Given the description of an element on the screen output the (x, y) to click on. 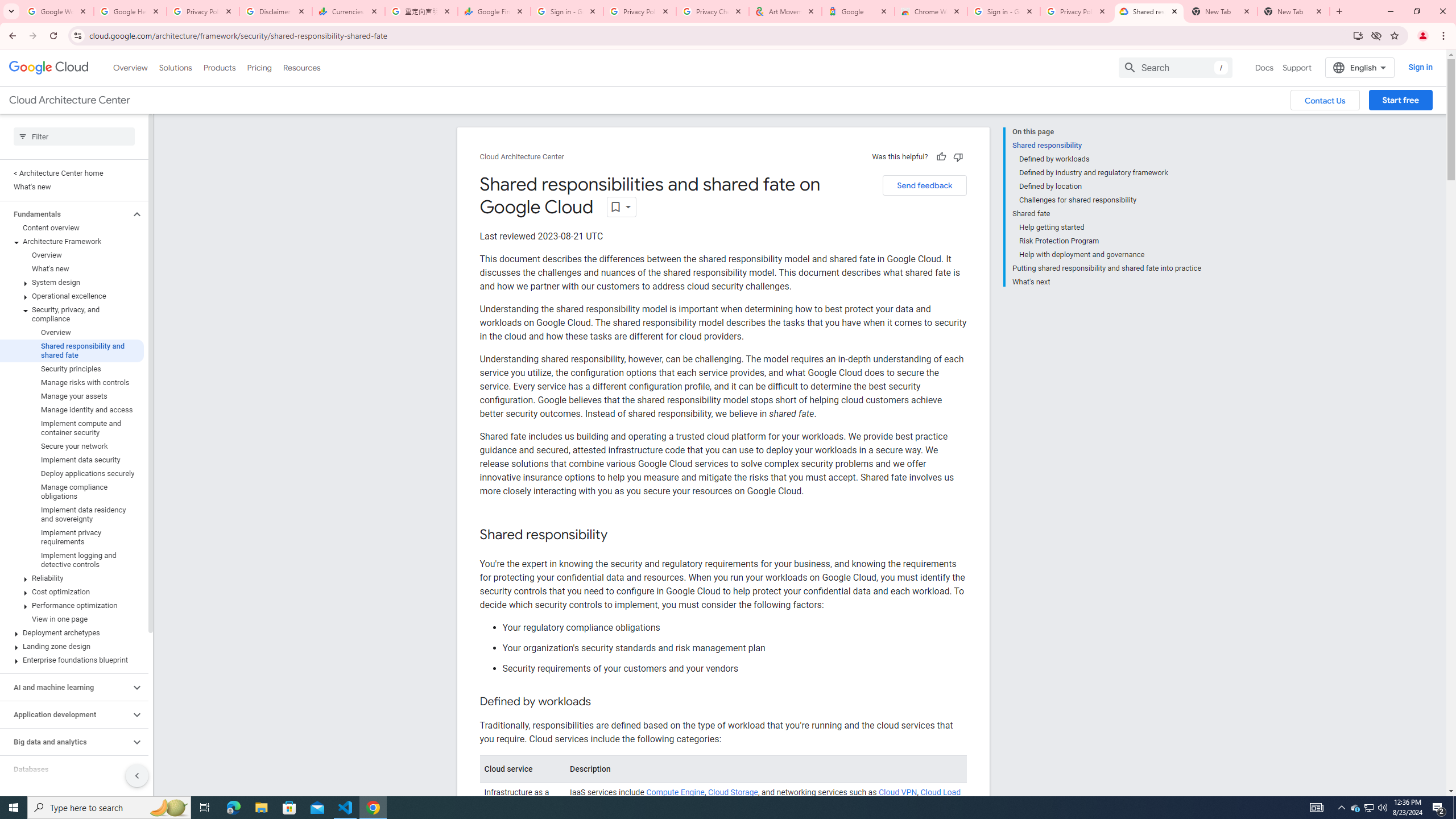
Putting shared responsibility and shared fate into practice (1106, 268)
Deploy applications securely (72, 473)
Security, privacy, and compliance (72, 314)
What's new (72, 269)
Secure your network (72, 445)
Type to filter (74, 136)
Pricing (259, 67)
Operational excellence (72, 296)
Enterprise foundations blueprint (72, 660)
Cloud Load Balancing (764, 798)
What's next (1106, 280)
